Given the description of an element on the screen output the (x, y) to click on. 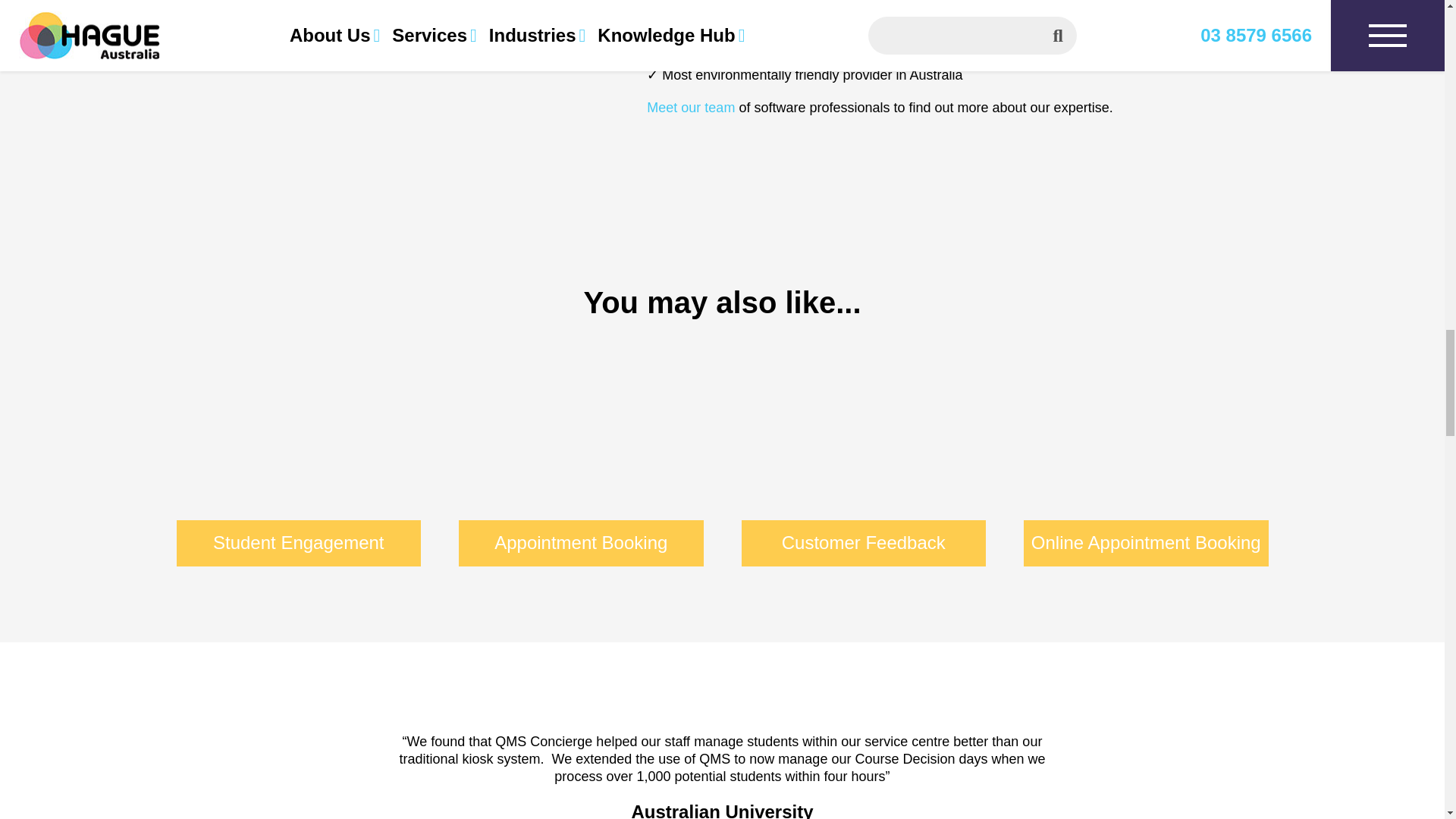
Appointment Booking (580, 461)
Student Engagement (298, 461)
Customer Feedback (864, 461)
Online Appointment Booking (1145, 461)
